Given the description of an element on the screen output the (x, y) to click on. 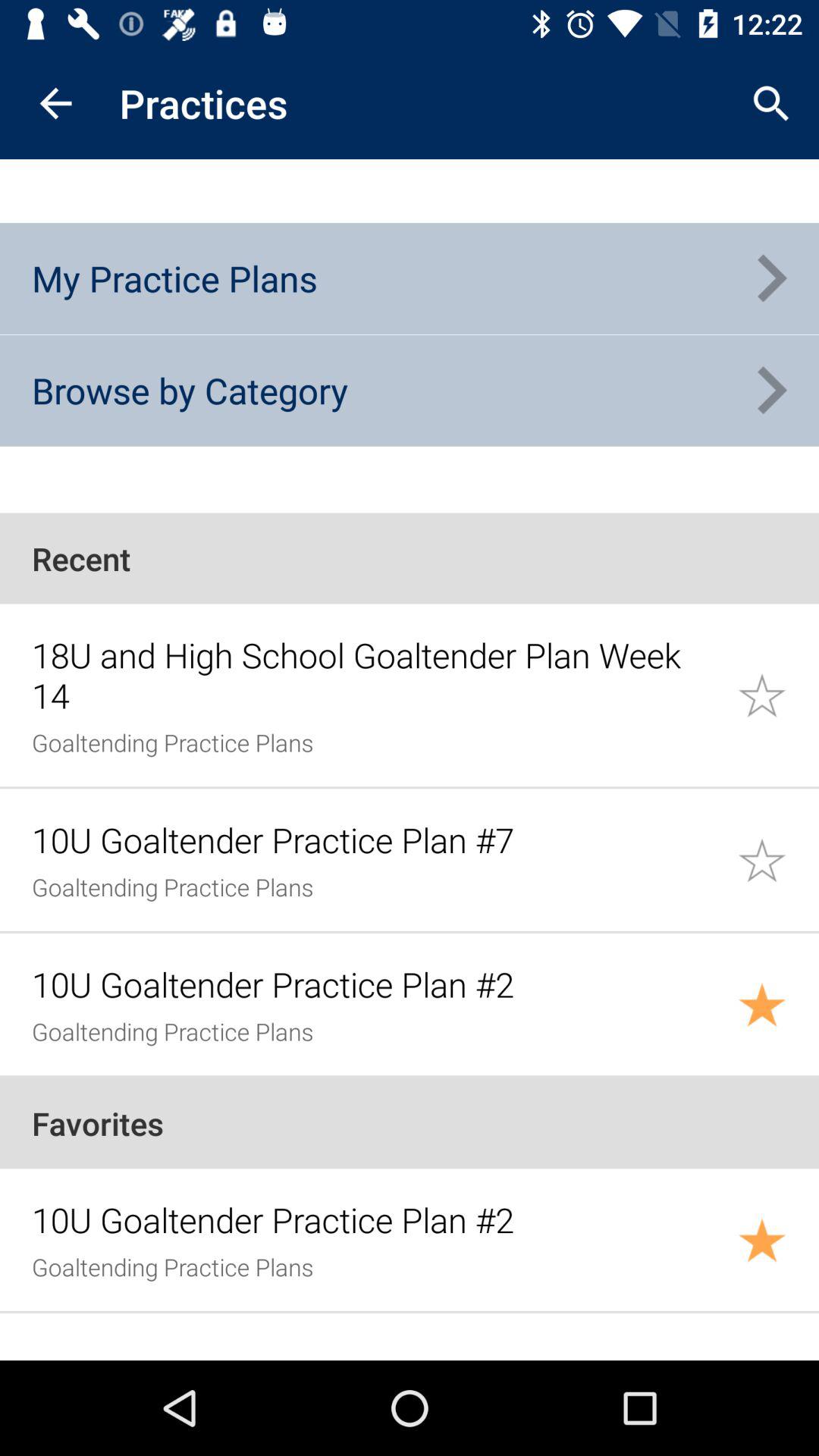
added to favorites (778, 1239)
